Given the description of an element on the screen output the (x, y) to click on. 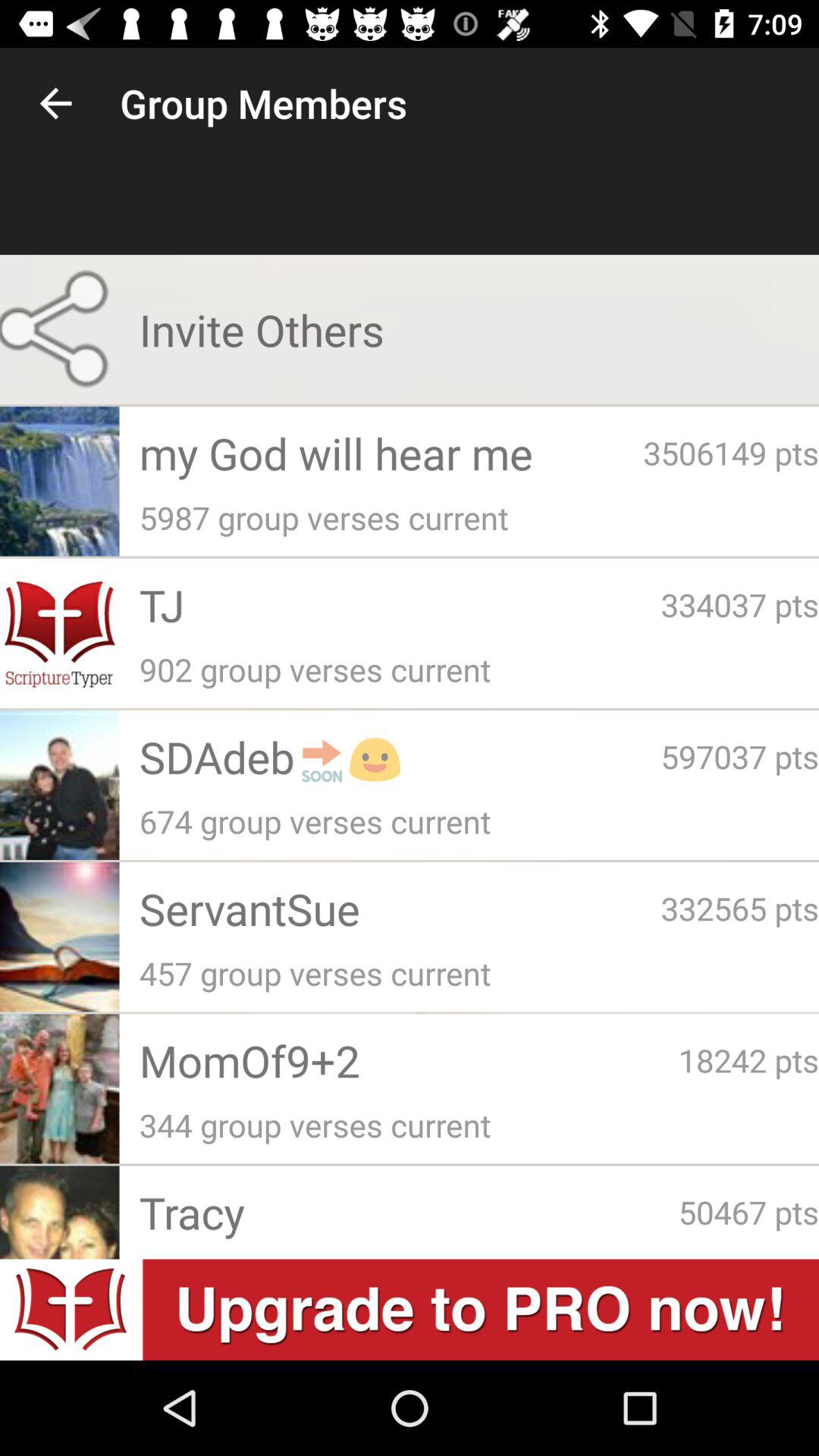
flip until momof9+2 app (408, 1060)
